Given the description of an element on the screen output the (x, y) to click on. 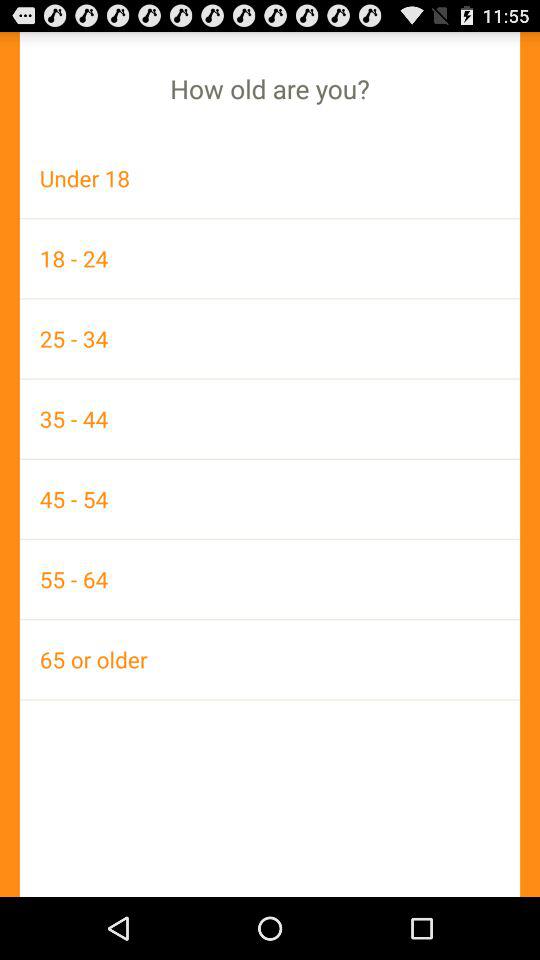
choose icon above the 55 - 64 app (269, 498)
